Given the description of an element on the screen output the (x, y) to click on. 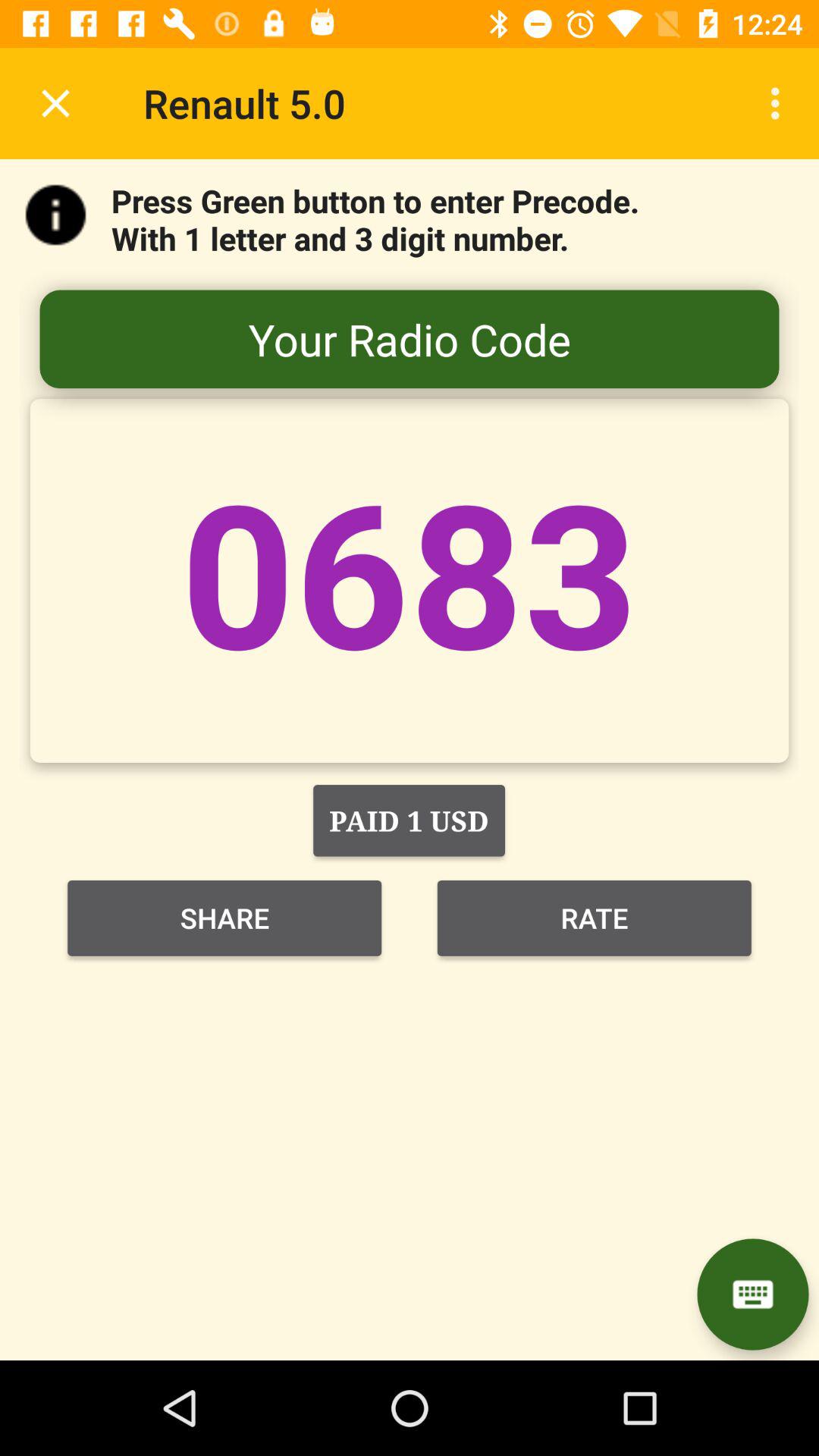
open item to the left of rate item (224, 918)
